Given the description of an element on the screen output the (x, y) to click on. 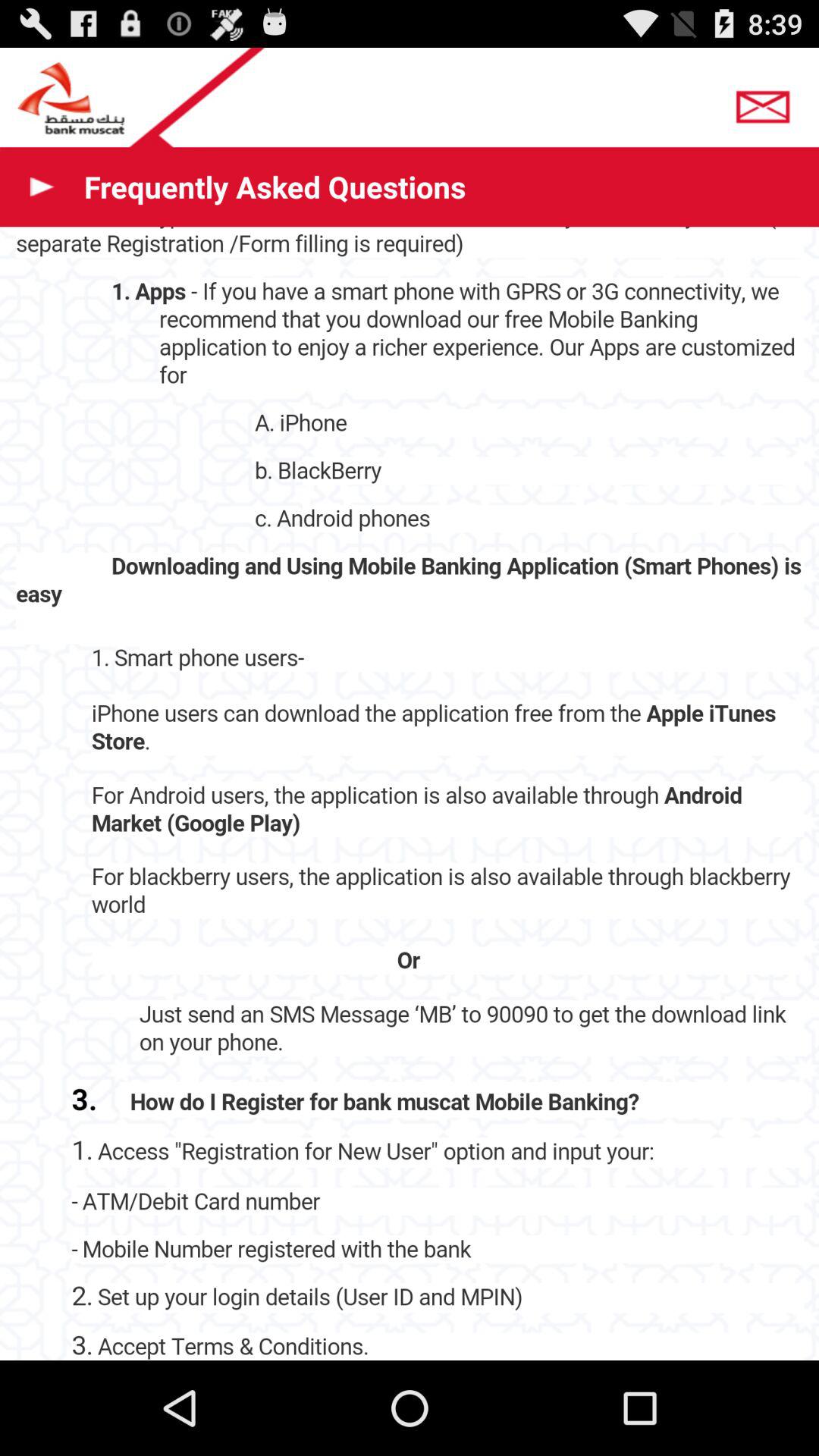
inbox (767, 101)
